Given the description of an element on the screen output the (x, y) to click on. 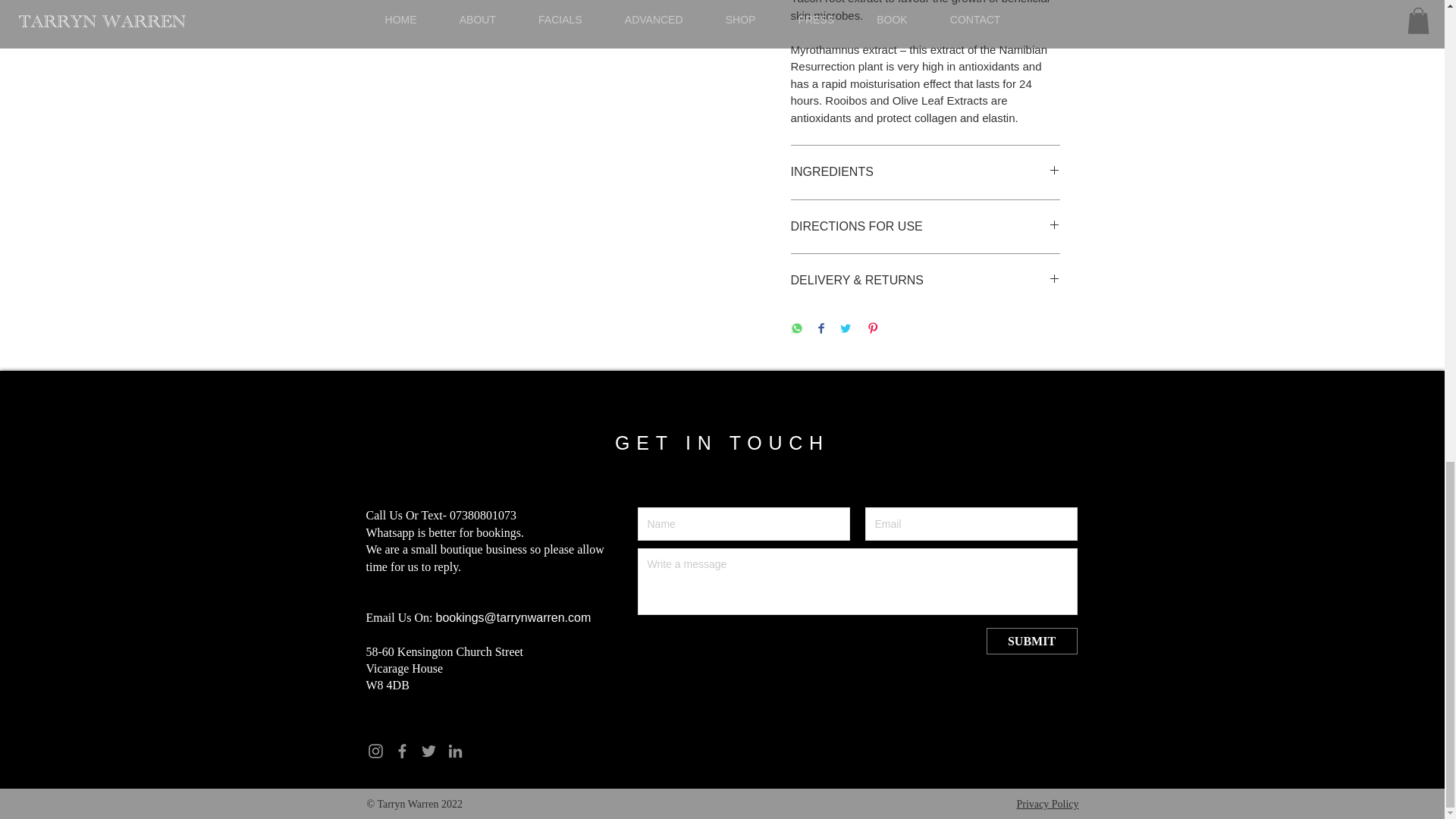
INGREDIENTS (924, 171)
Privacy Policy (1047, 803)
DIRECTIONS FOR USE (924, 226)
SUBMIT (1031, 641)
